Given the description of an element on the screen output the (x, y) to click on. 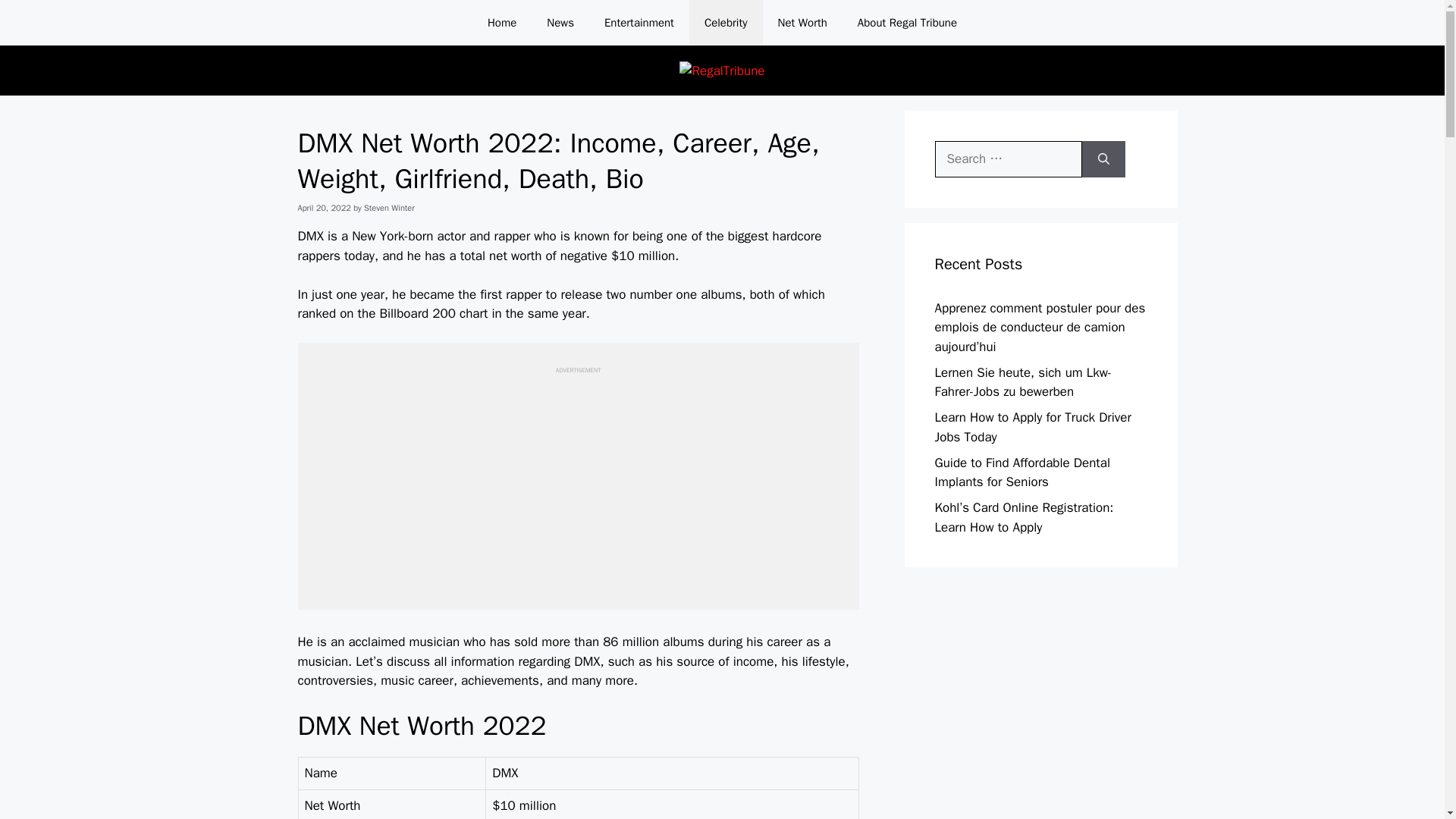
Steven Winter (389, 207)
Lernen Sie heute, sich um Lkw-Fahrer-Jobs zu bewerben (1023, 382)
Net Worth (802, 22)
Learn How to Apply for Truck Driver Jobs Today (1032, 427)
About Regal Tribune (907, 22)
Home (501, 22)
Guide to Find Affordable Dental Implants for Seniors (1021, 472)
View all posts by Steven Winter (389, 207)
Celebrity (725, 22)
Advertisement (577, 480)
Search for: (1007, 158)
News (560, 22)
Entertainment (638, 22)
